Given the description of an element on the screen output the (x, y) to click on. 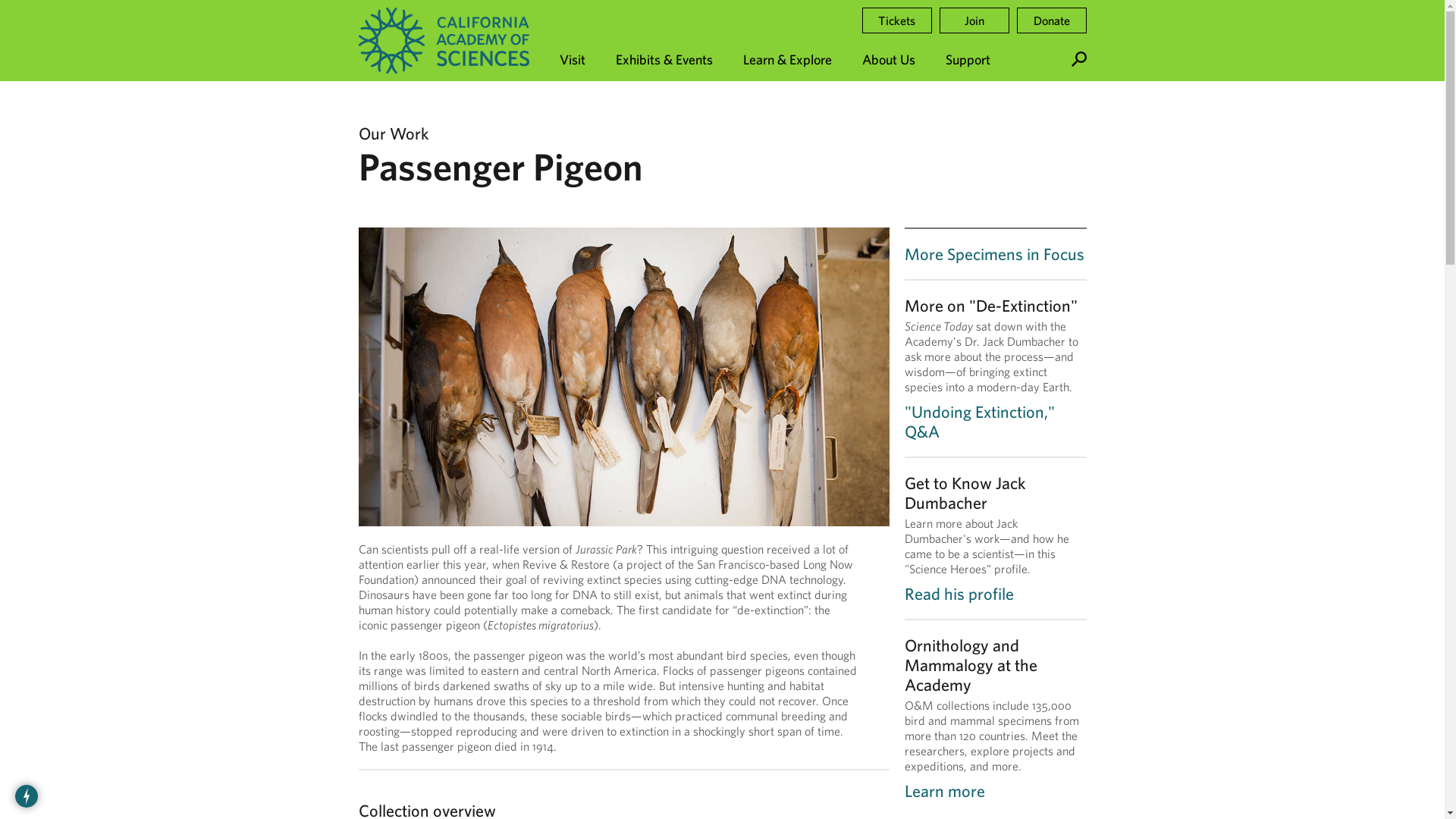
Donate (1051, 20)
Home (443, 40)
About Us (887, 40)
Visit (571, 40)
Tickets (896, 20)
Join (974, 20)
